Given the description of an element on the screen output the (x, y) to click on. 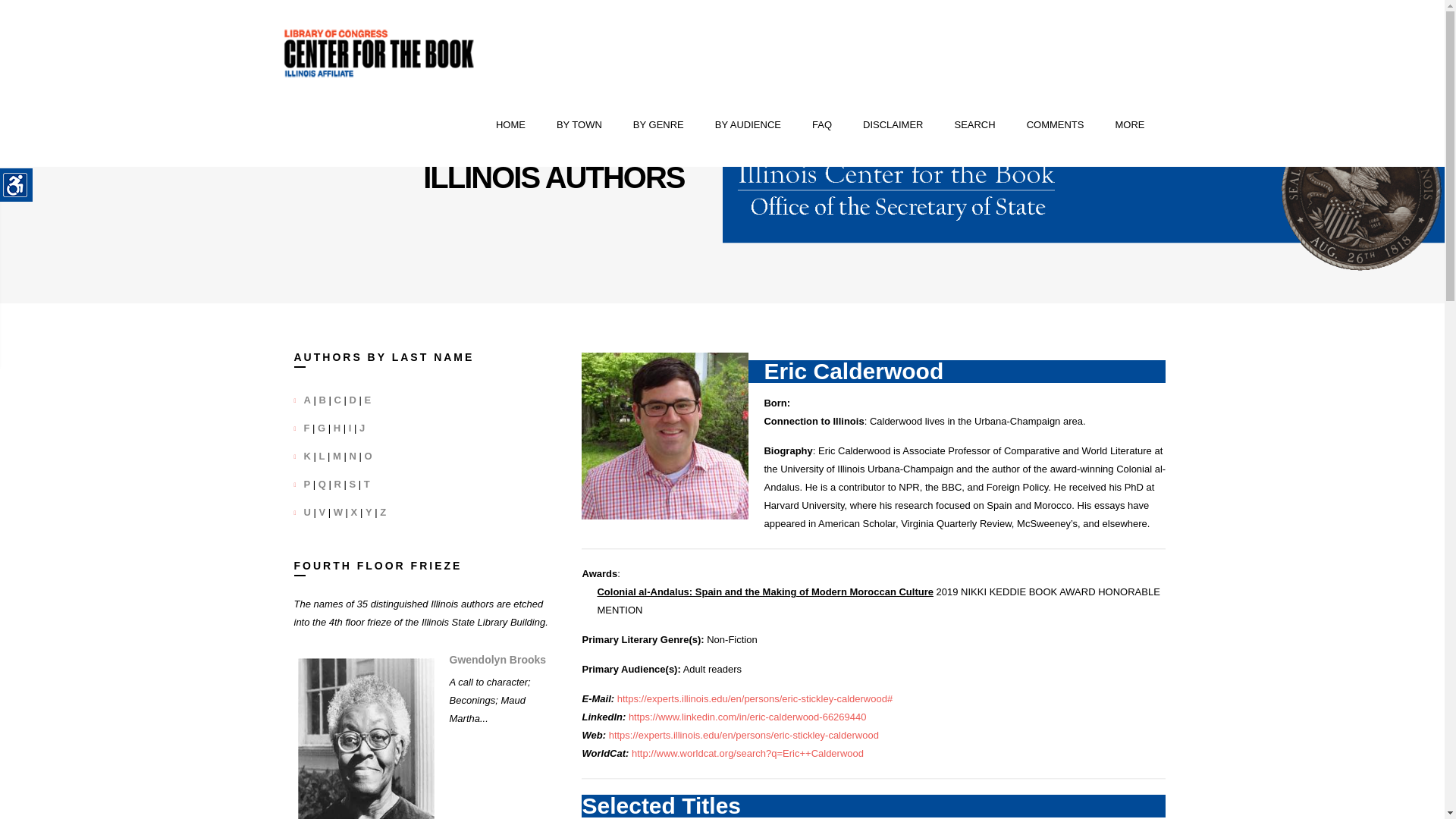
Illinois authors, arranged by audience (747, 125)
Link to the Library of Congress's Center for the Book (379, 52)
COMMENTS (1055, 125)
DISCLAIMER (893, 125)
BY AUDIENCE (747, 125)
A disclaimer from the Illinois Secretary of State (893, 125)
